Given the description of an element on the screen output the (x, y) to click on. 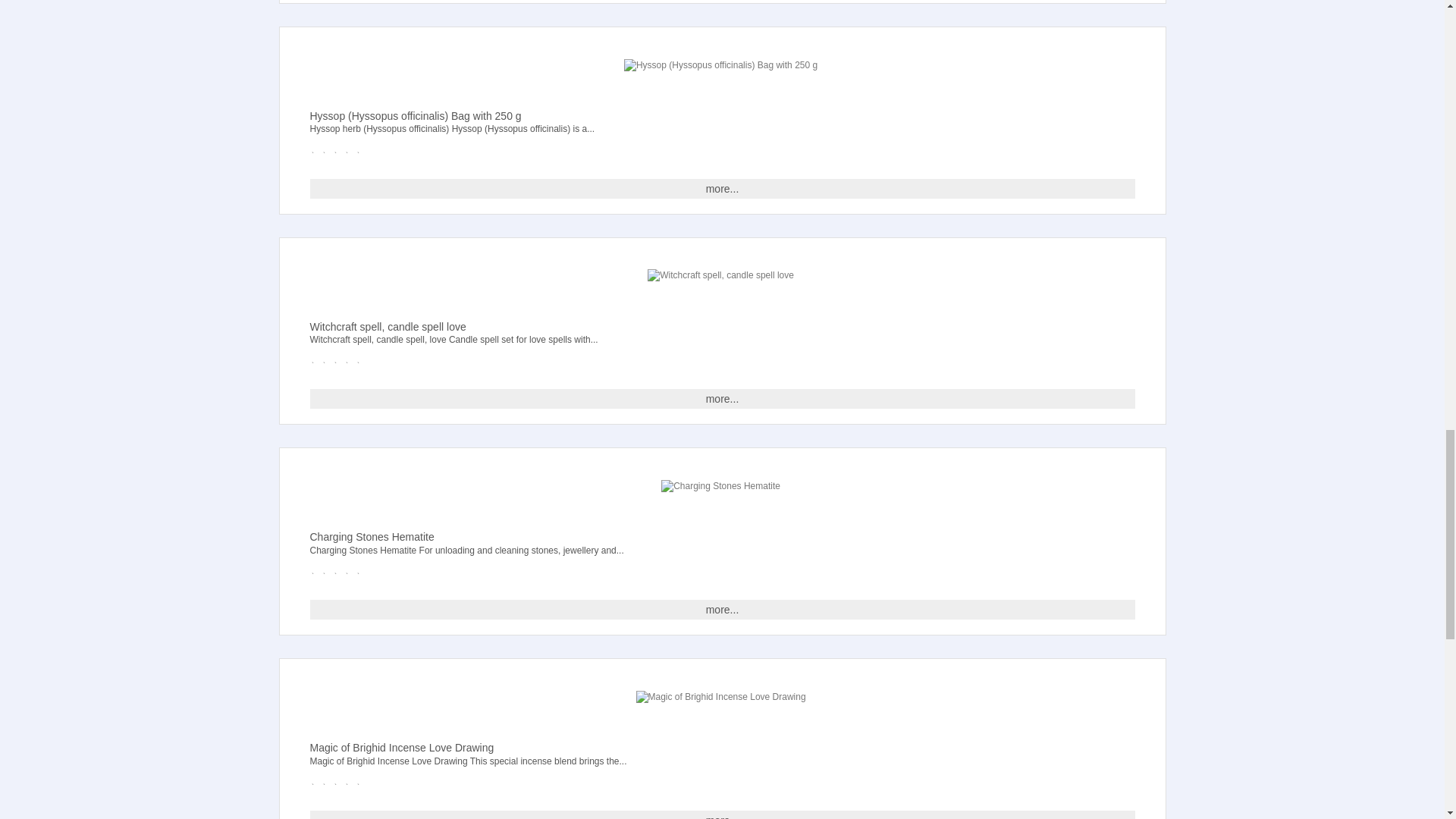
Magic of Brighid Incense Love Drawing (719, 697)
Charging Stones Hematite (720, 486)
Witchcraft spell, candle spell love (720, 275)
